Given the description of an element on the screen output the (x, y) to click on. 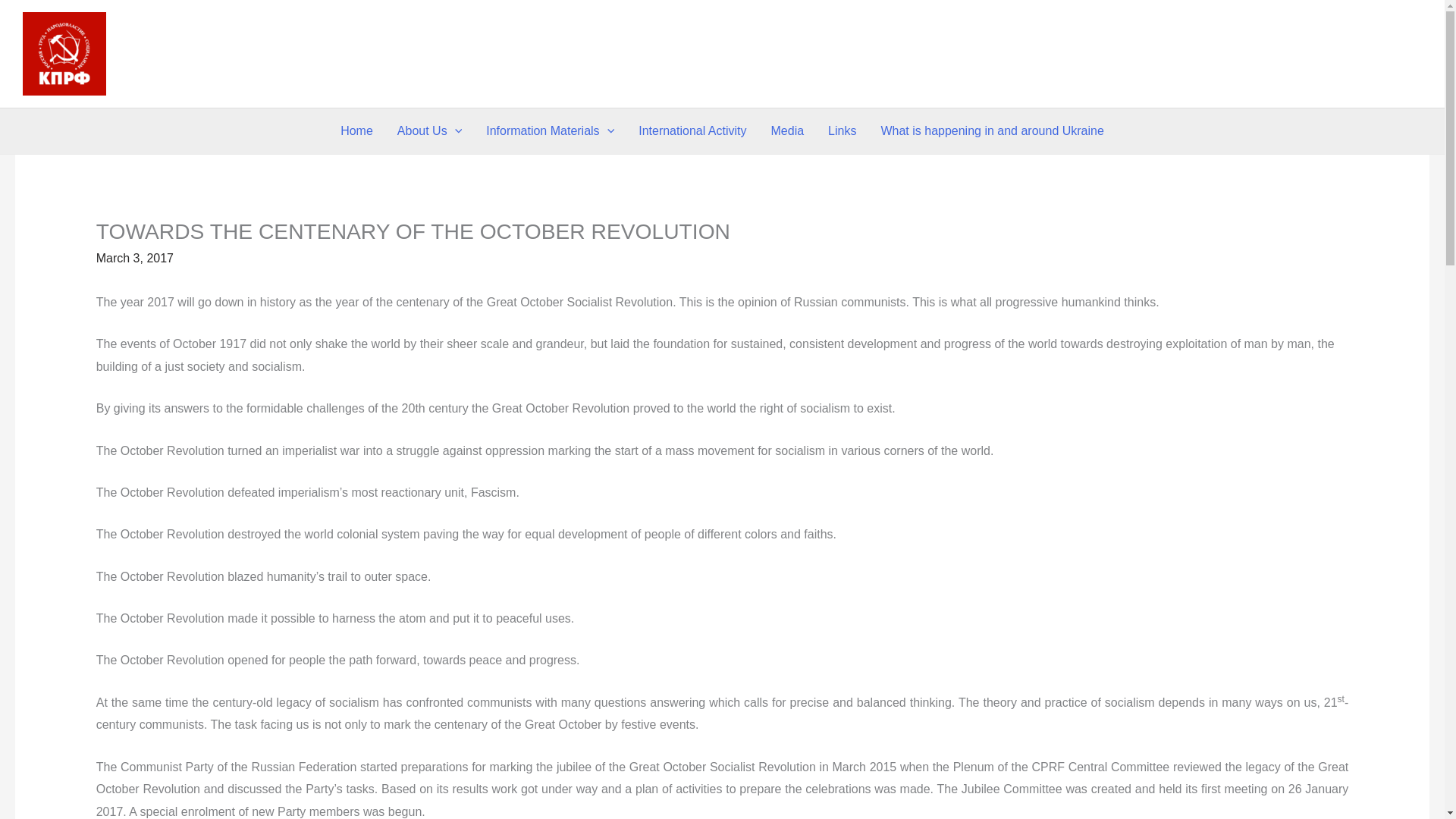
International Activity (692, 130)
What is happening in and around Ukraine (991, 130)
Information Materials (550, 130)
About Us (429, 130)
Media (786, 130)
Home (357, 130)
Links (841, 130)
COMMUNIST PARTY OF THE RUSSIAN FEDERATION (218, 53)
